Given the description of an element on the screen output the (x, y) to click on. 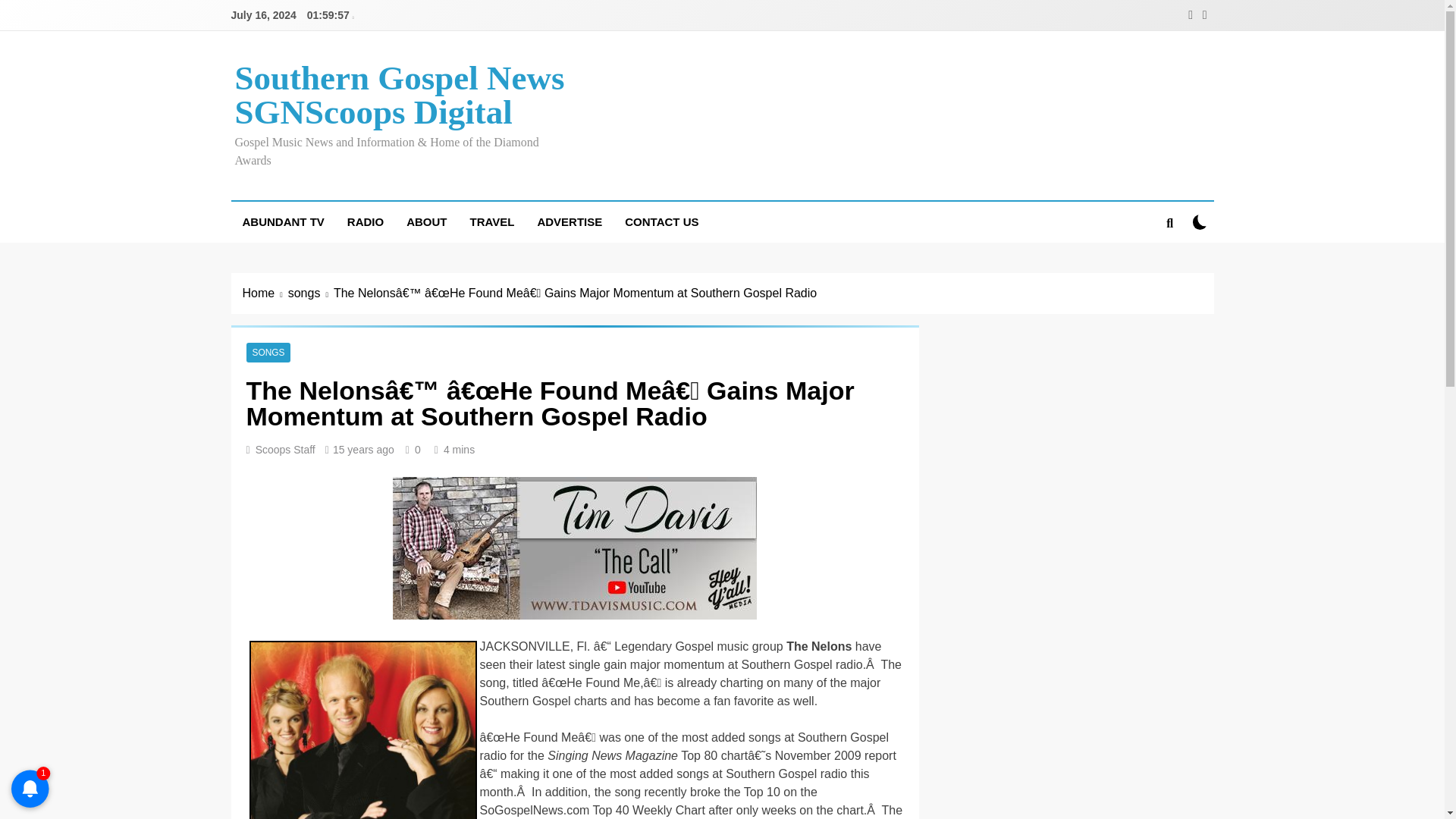
nelons (362, 729)
Scoops Staff (285, 449)
TRAVEL (491, 221)
ABUNDANT TV (282, 221)
Southern Gospel News SGNScoops Digital (399, 94)
ADVERTISE (568, 221)
ABOUT (426, 221)
CONTACT US (661, 221)
15 years ago (363, 449)
 Webpushr (30, 765)
SONGS (267, 352)
RADIO (365, 221)
songs (310, 293)
on (1199, 221)
Home (265, 293)
